Given the description of an element on the screen output the (x, y) to click on. 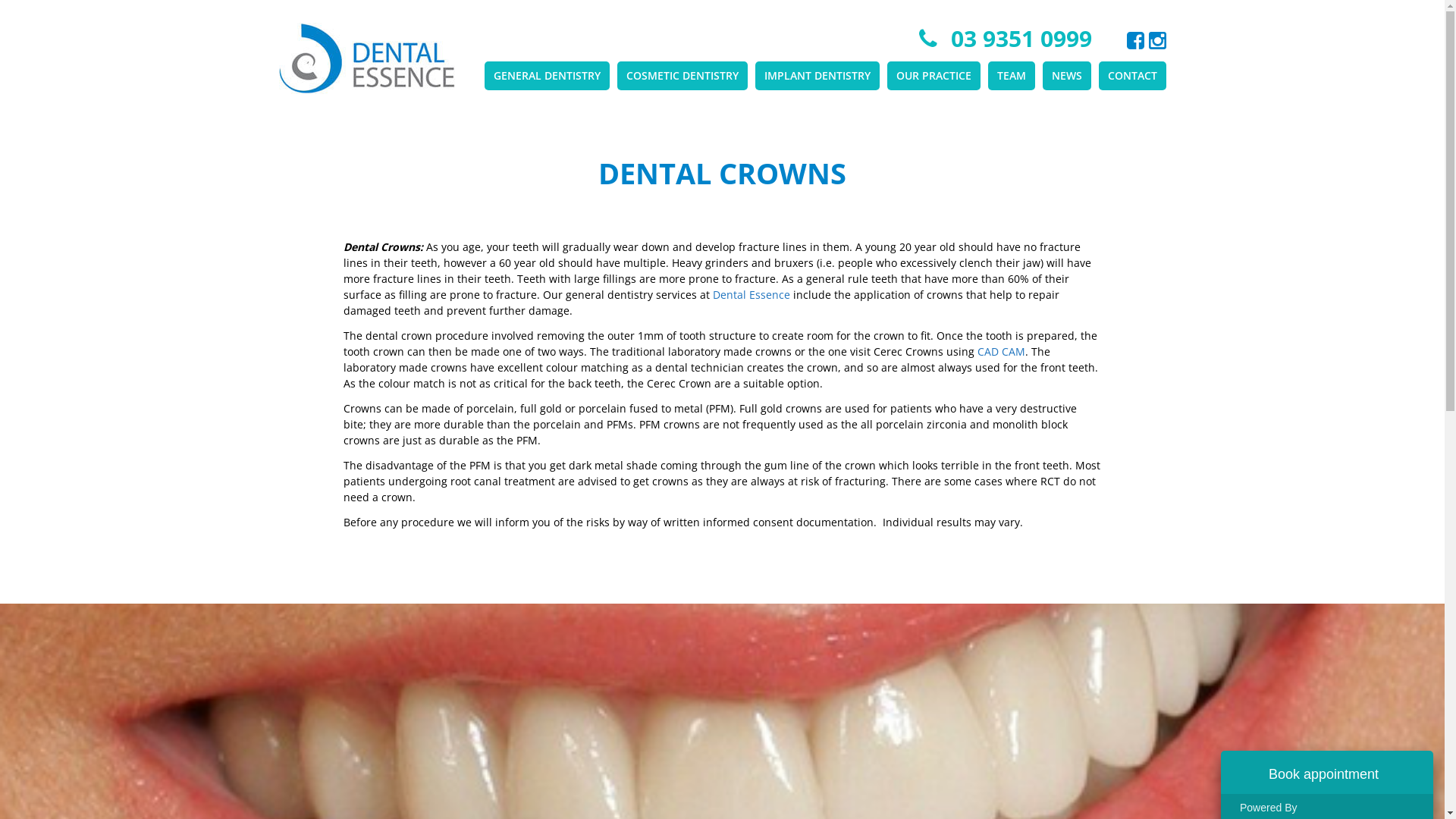
IMPLANT DENTISTRY Element type: text (817, 75)
GENERAL DENTISTRY Element type: text (545, 75)
OUR PRACTICE Element type: text (933, 75)
CAD CAM Element type: text (1000, 351)
CONTACT Element type: text (1131, 75)
03 9351 0999 Element type: text (1021, 37)
Dental Essence Element type: text (751, 294)
COSMETIC DENTISTRY Element type: text (682, 75)
NEWS Element type: text (1065, 75)
TEAM Element type: text (1010, 75)
